Given the description of an element on the screen output the (x, y) to click on. 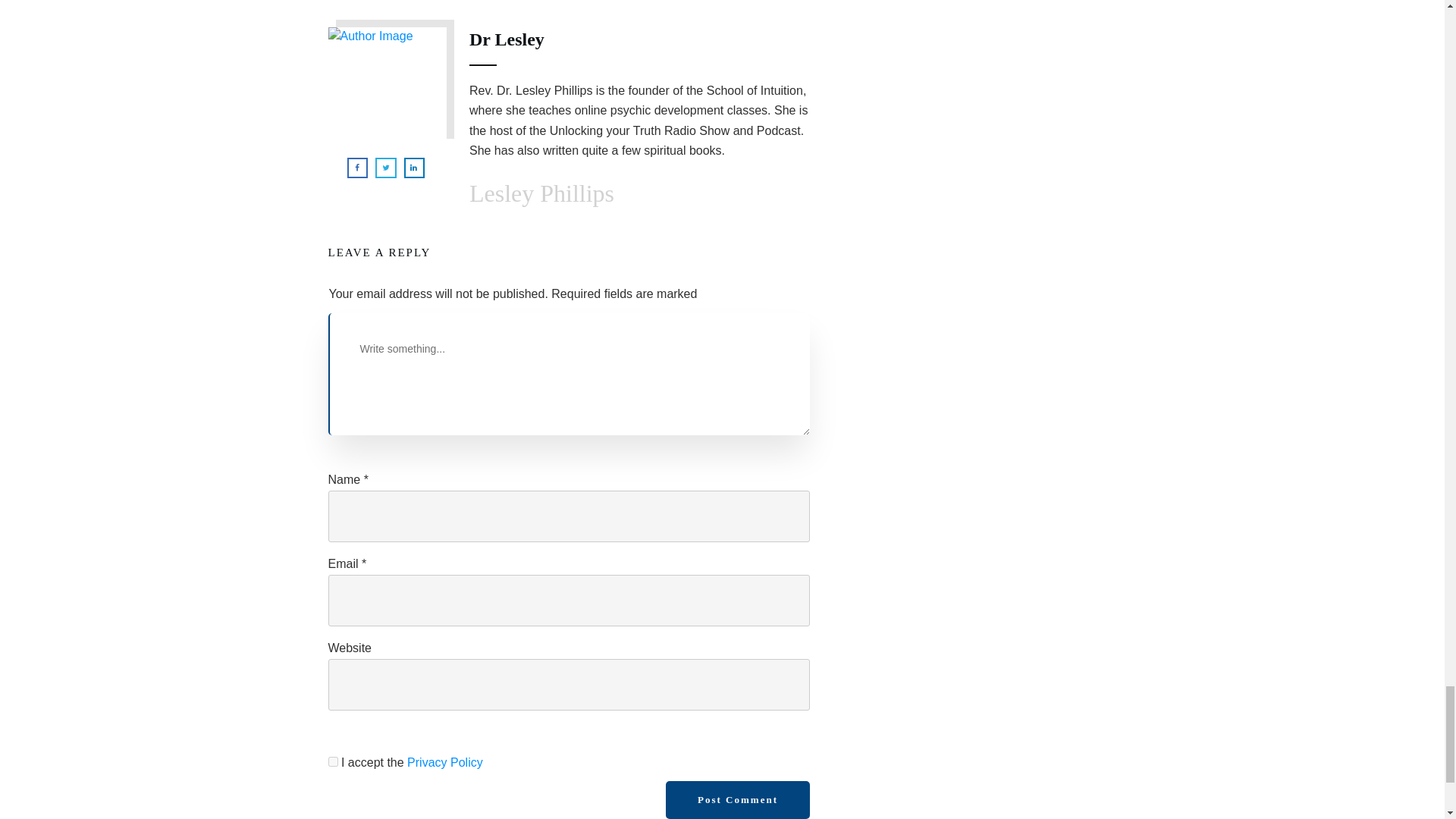
1 (332, 761)
